Given the description of an element on the screen output the (x, y) to click on. 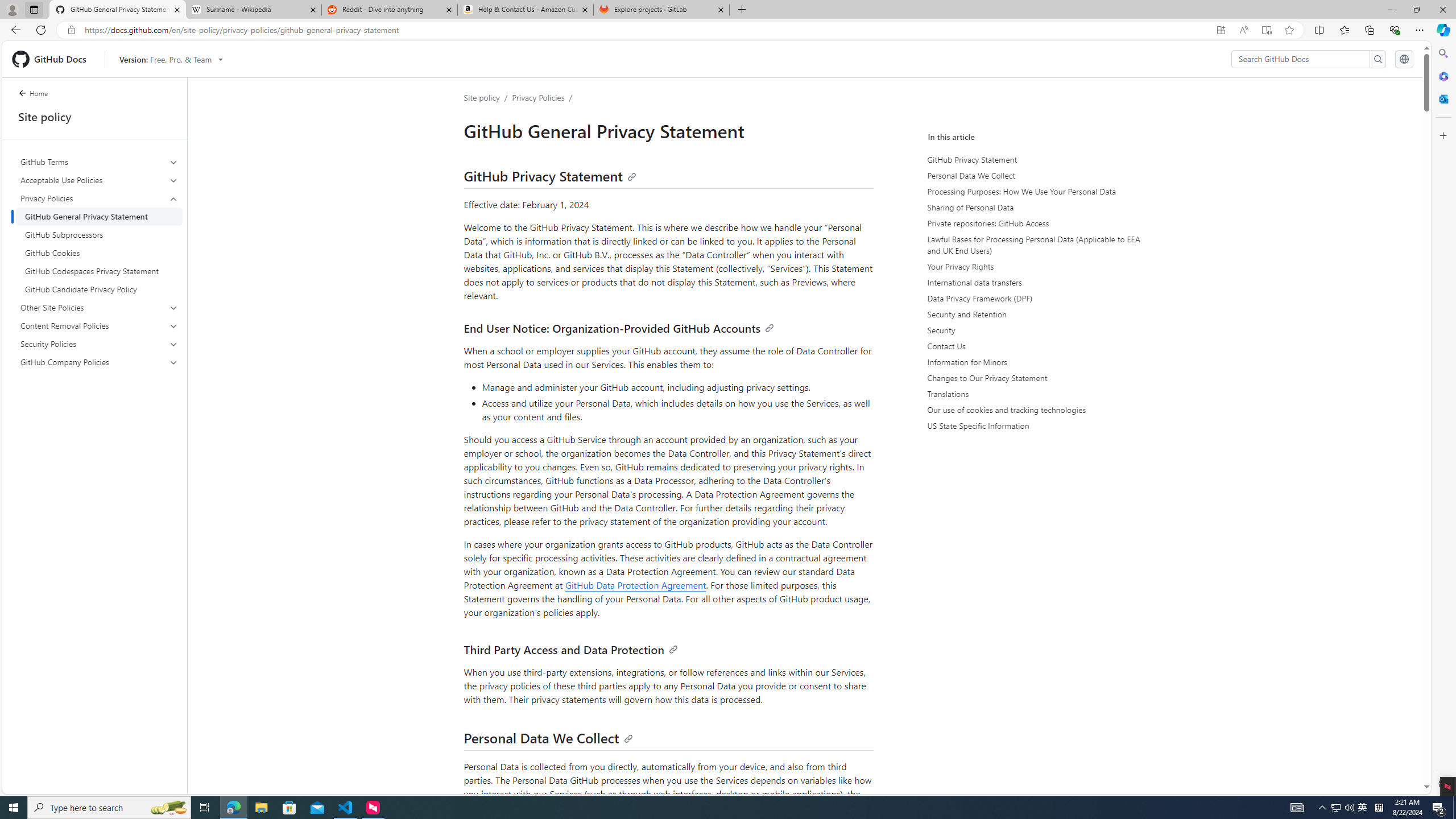
Personal Data We Collect (1032, 175)
Private repositories: GitHub Access (1034, 223)
Our use of cookies and tracking technologies (1032, 409)
Translations (1034, 394)
Help & Contact Us - Amazon Customer Service (525, 9)
Processing Purposes: How We Use Your Personal Data (1034, 191)
GitHub Terms (99, 162)
Contact Us (1034, 346)
Site policy (481, 97)
GitHub Company Policies (99, 361)
Suriname - Wikipedia (253, 9)
Security and Retention (1034, 314)
Privacy Policies (99, 198)
